Given the description of an element on the screen output the (x, y) to click on. 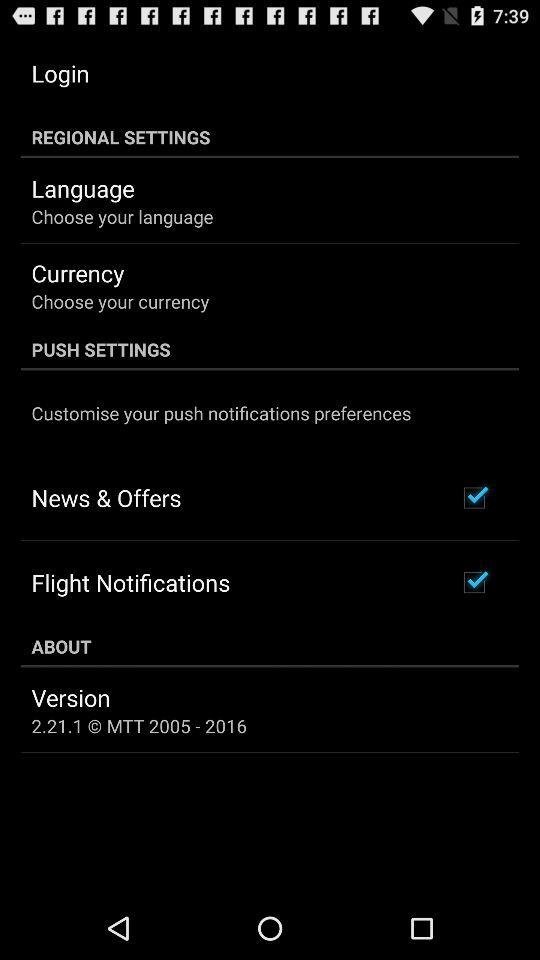
swipe until the version icon (70, 697)
